Given the description of an element on the screen output the (x, y) to click on. 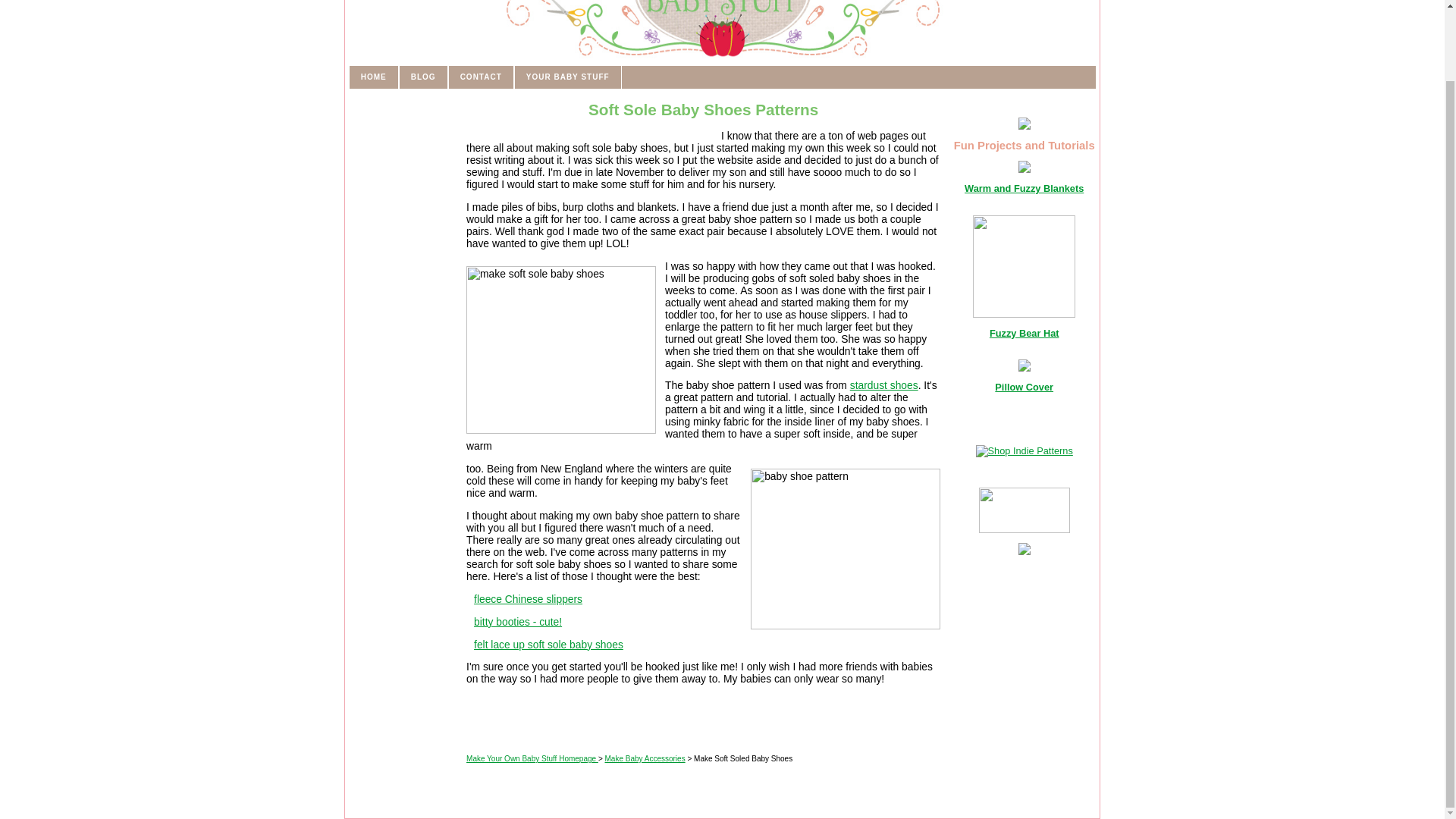
Warm and Fuzzy Blankets (1023, 188)
fleece Chinese slippers (528, 598)
return to homepage (722, 29)
Make Your Own Baby Stuff Homepage (531, 758)
YOUR BABY STUFF (567, 77)
Fuzzy Bear Hat (1024, 333)
stardust shoes (884, 385)
Pillow Cover (1023, 387)
Make Baby Accessories (645, 758)
felt lace up soft sole baby shoes (548, 644)
BLOG (423, 77)
CONTACT (480, 77)
HOME (373, 77)
bitty booties - cute! (518, 621)
